Given the description of an element on the screen output the (x, y) to click on. 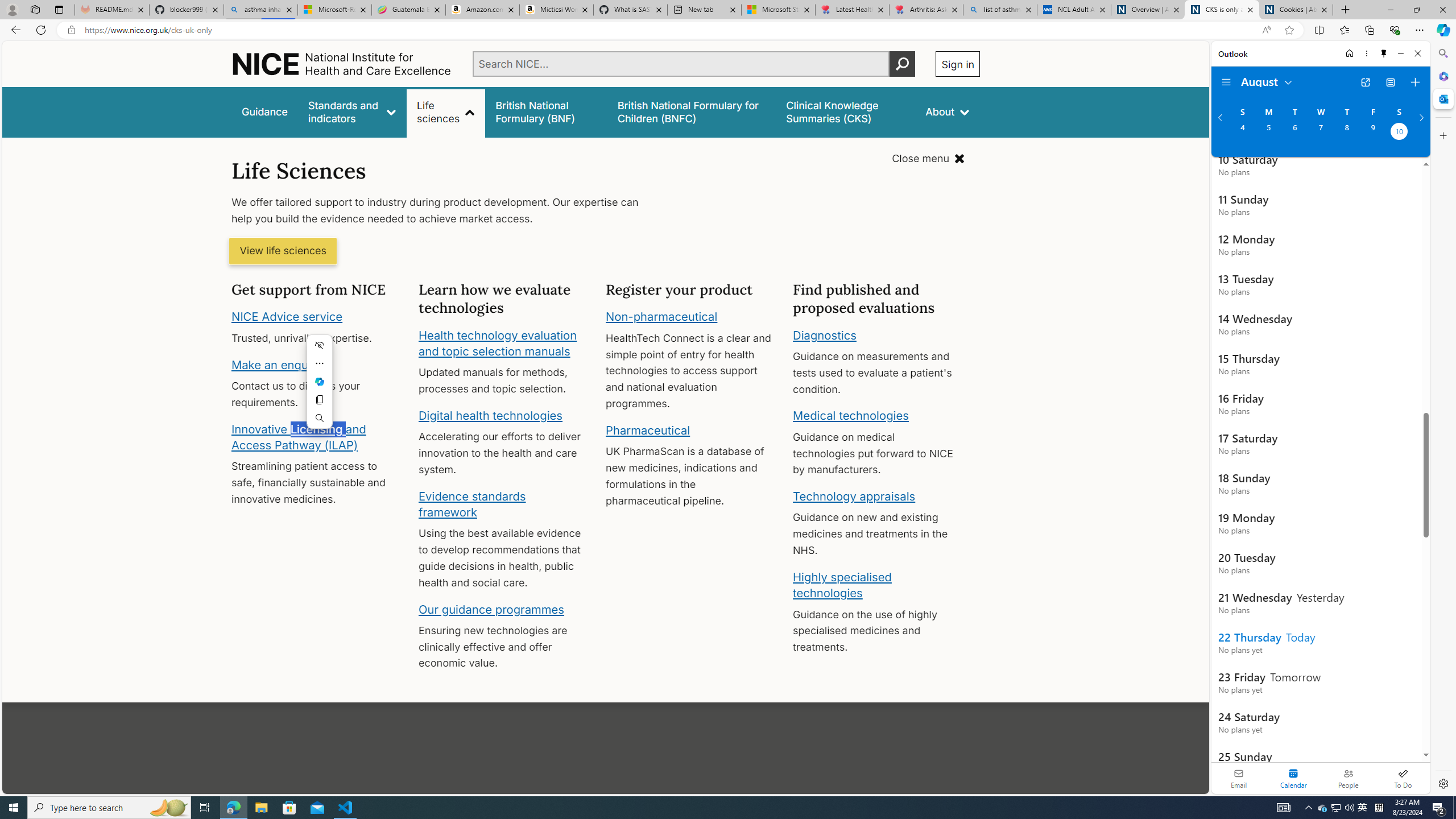
Tuesday, August 6, 2024.  (1294, 132)
false (845, 111)
View life sciences (282, 251)
To Do (1402, 777)
Wednesday, August 7, 2024.  (1320, 132)
About (947, 111)
CKS is only available in the UK | NICE (1221, 9)
